Given the description of an element on the screen output the (x, y) to click on. 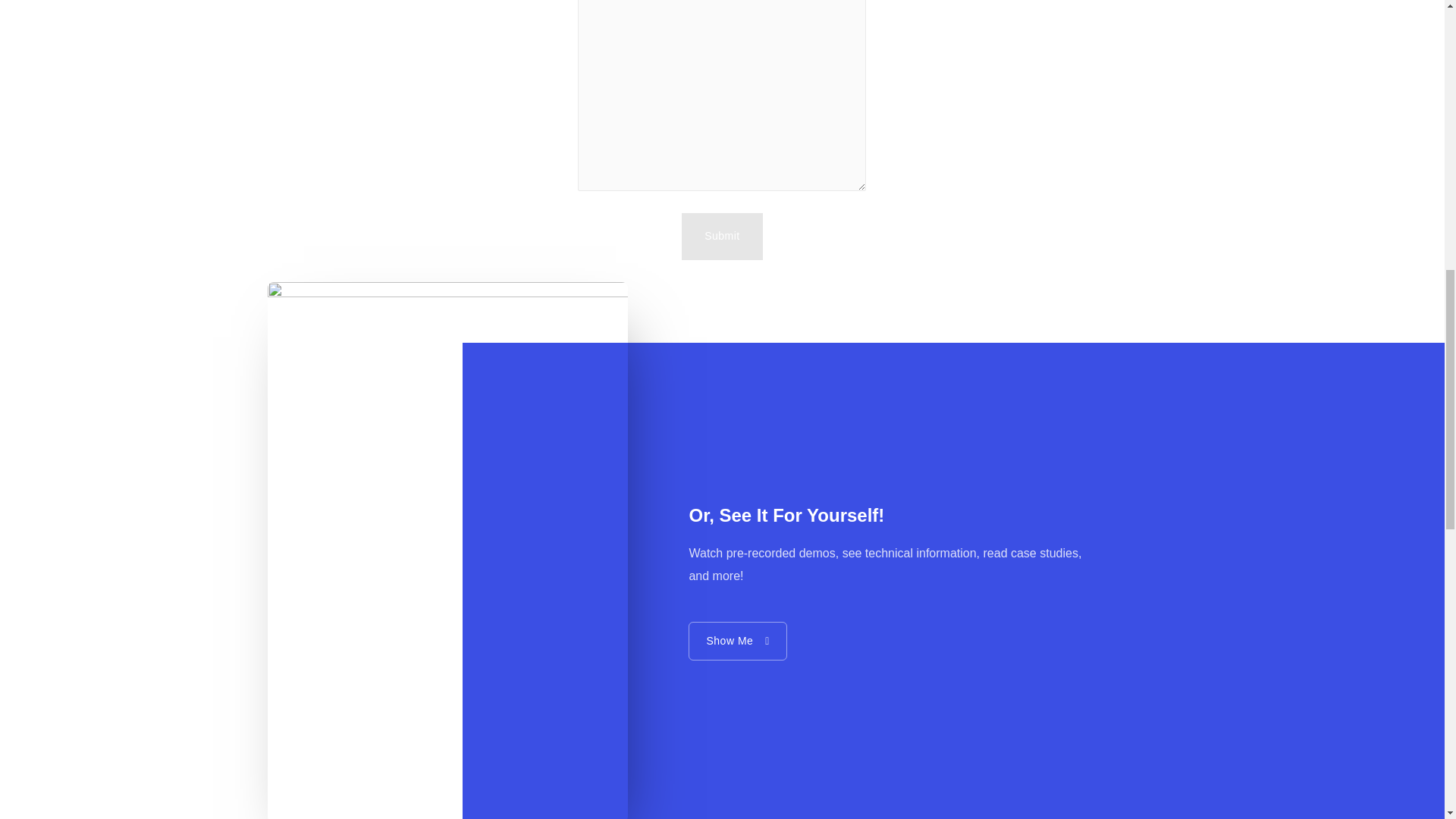
Submit (721, 236)
Submit (721, 236)
Show Me (737, 640)
